Given the description of an element on the screen output the (x, y) to click on. 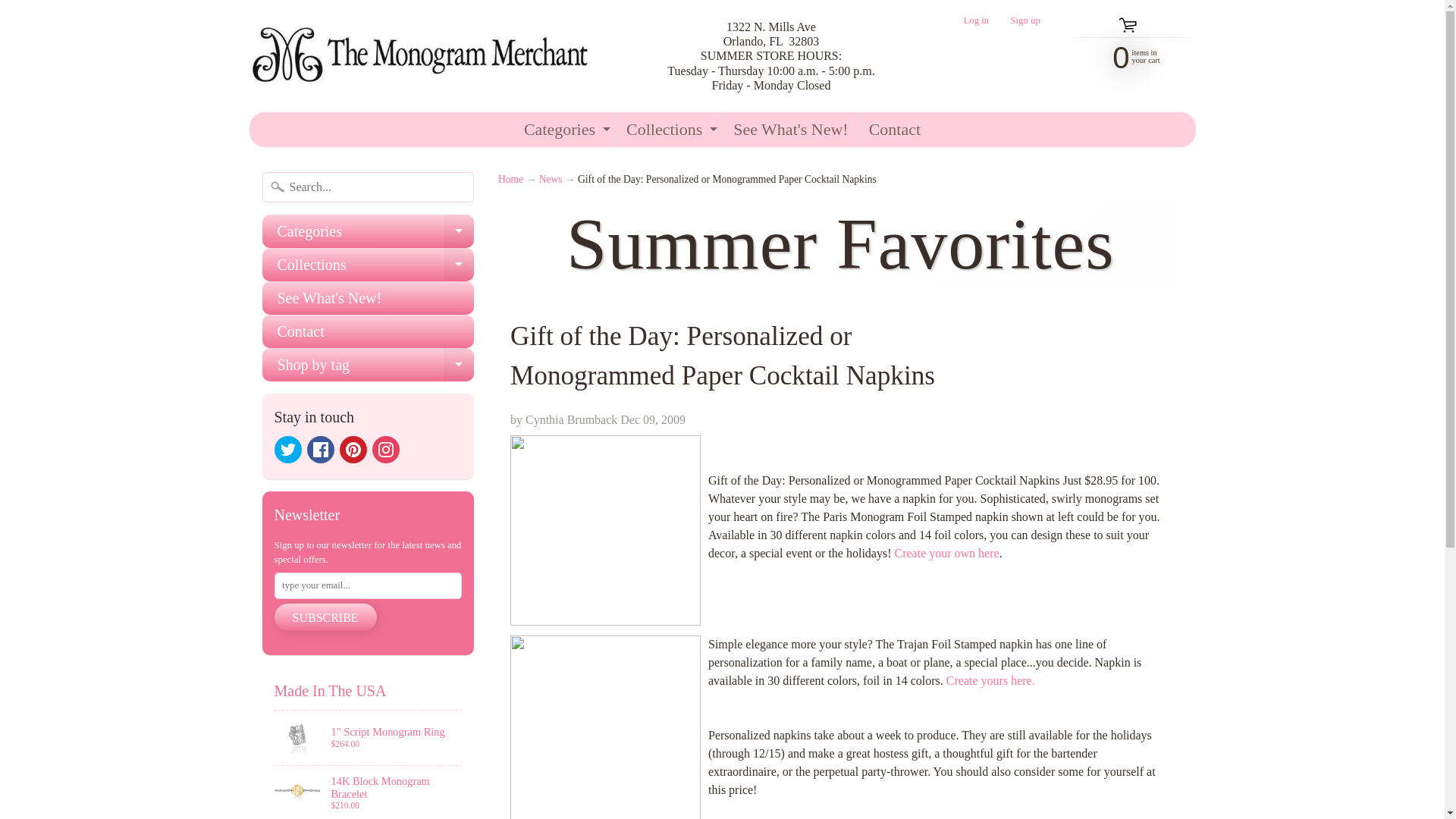
1" Script Monogram Ring (564, 129)
Sign up (1122, 56)
Log in (369, 737)
Instagram (1025, 20)
Pinterest (975, 20)
14K Block Monogram Bracelet (384, 449)
Twitter (352, 449)
The Monogram Merchant (369, 792)
Back to the home page (288, 449)
Facebook (422, 55)
